Given the description of an element on the screen output the (x, y) to click on. 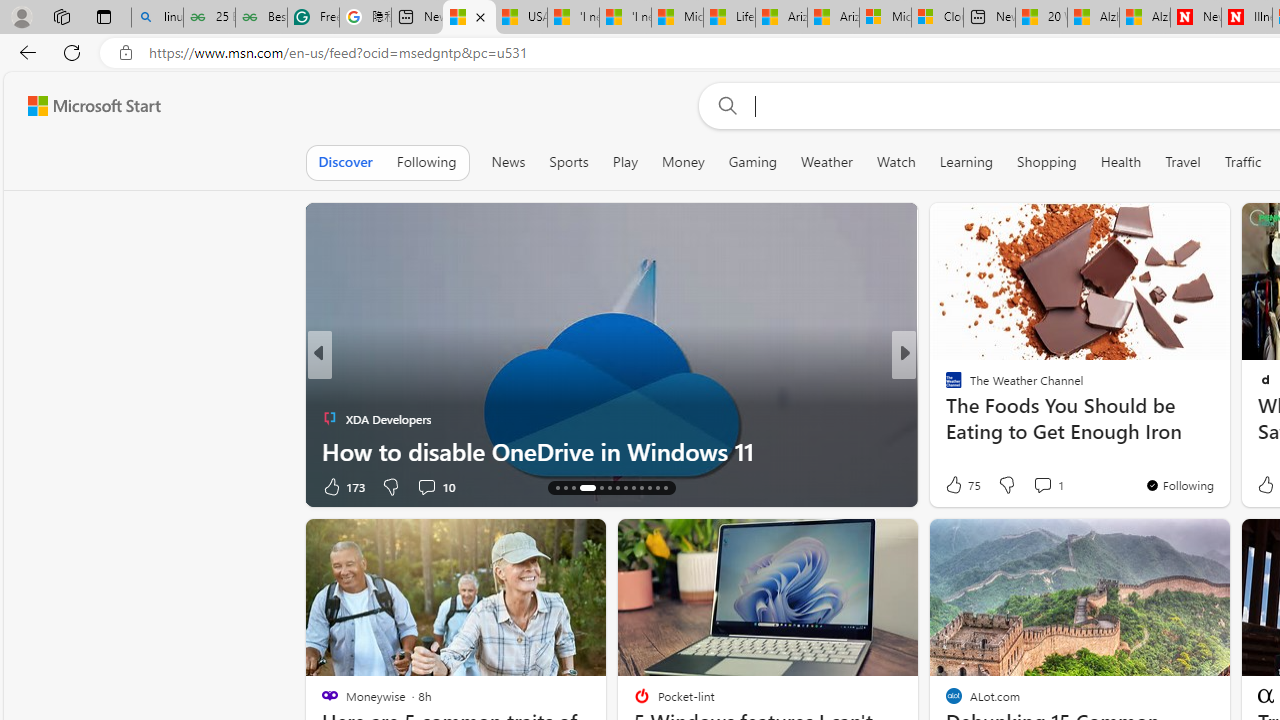
AutomationID: tab-18 (600, 487)
